Given the description of an element on the screen output the (x, y) to click on. 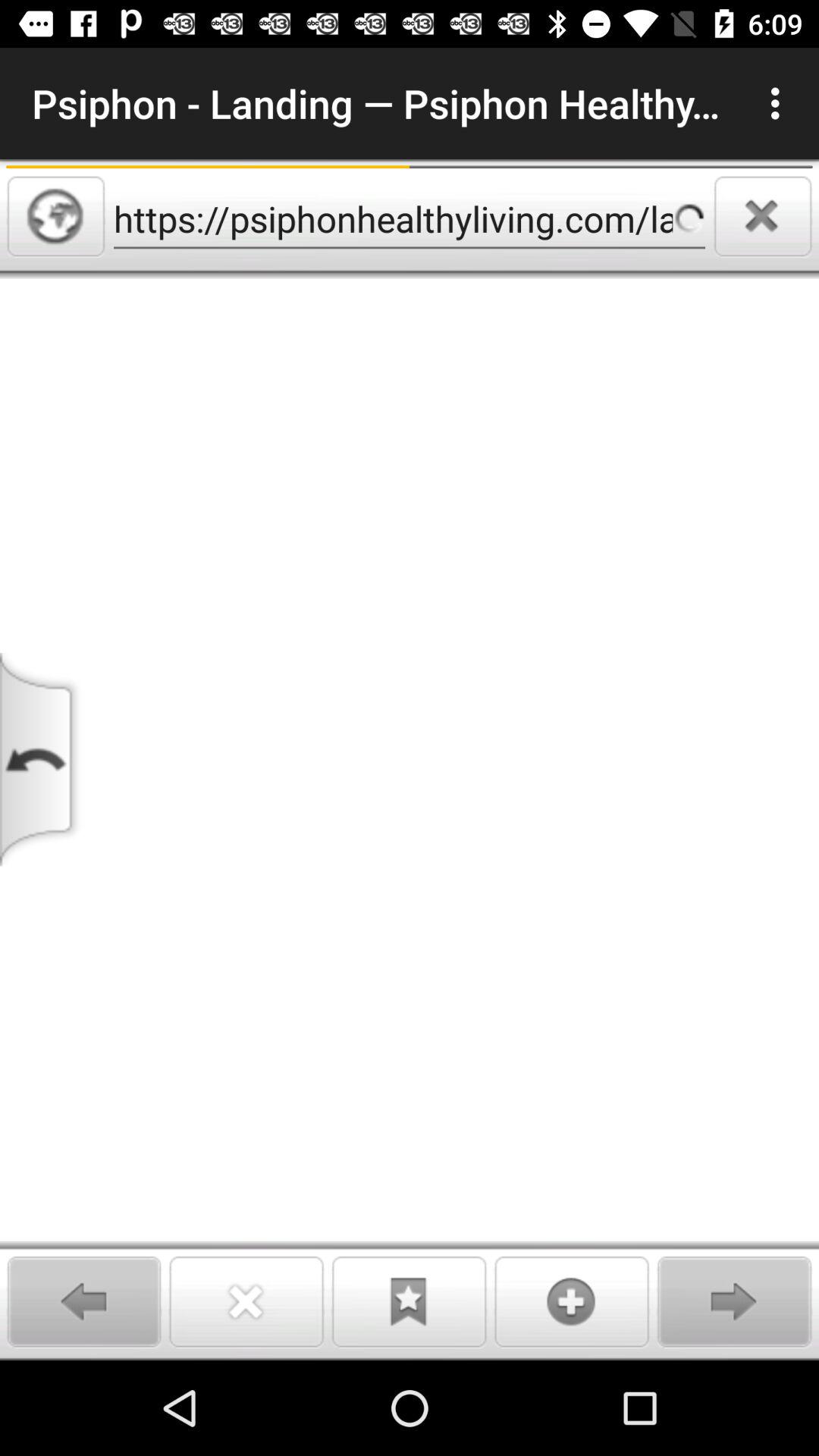
an arrow that points to the left that will go backwards when pressed (84, 1301)
